Given the description of an element on the screen output the (x, y) to click on. 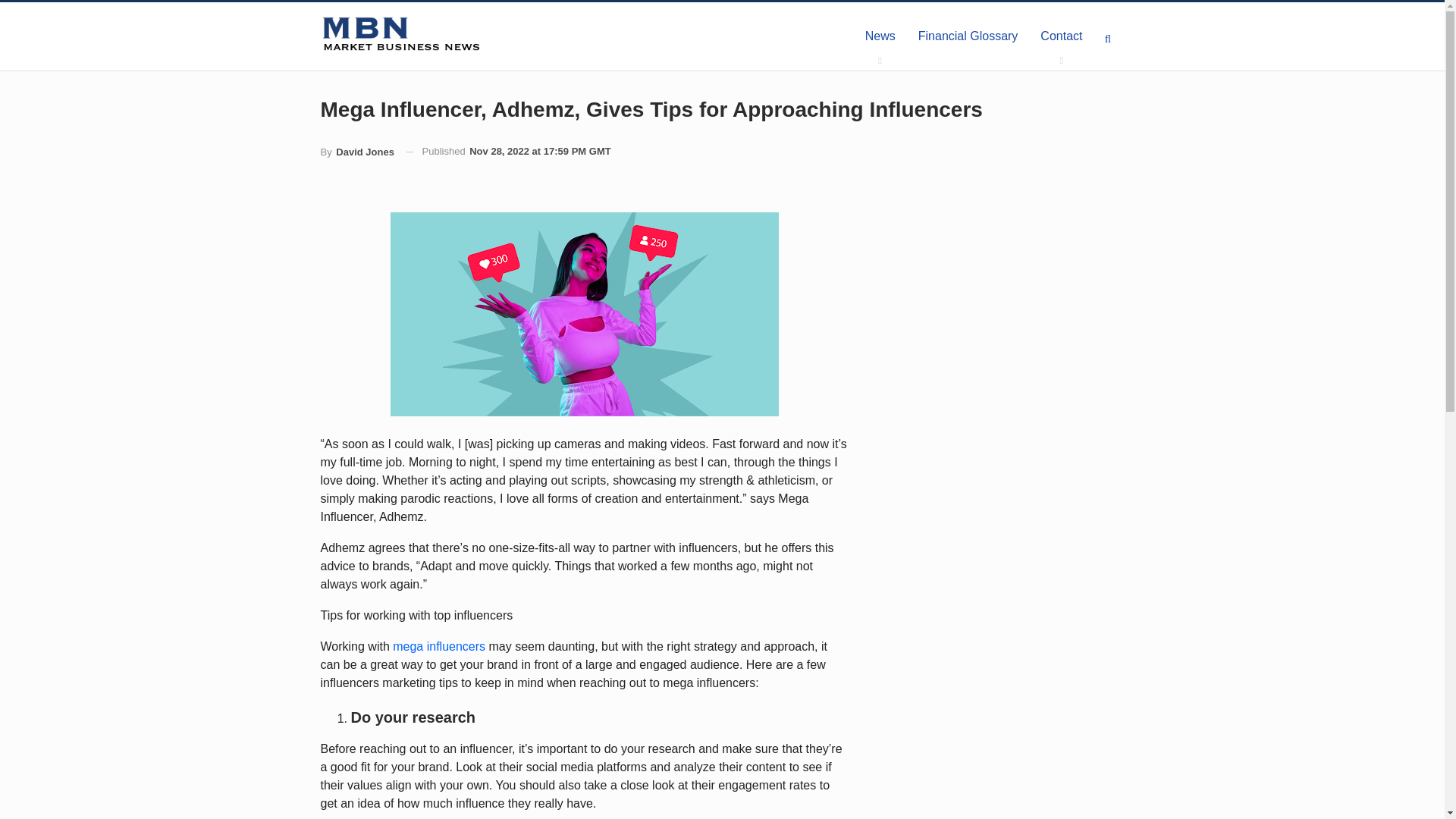
Financial Glossary (968, 36)
By David Jones (356, 152)
Contact (1061, 36)
Browse Author Articles (356, 152)
mega influencers (438, 645)
